Given the description of an element on the screen output the (x, y) to click on. 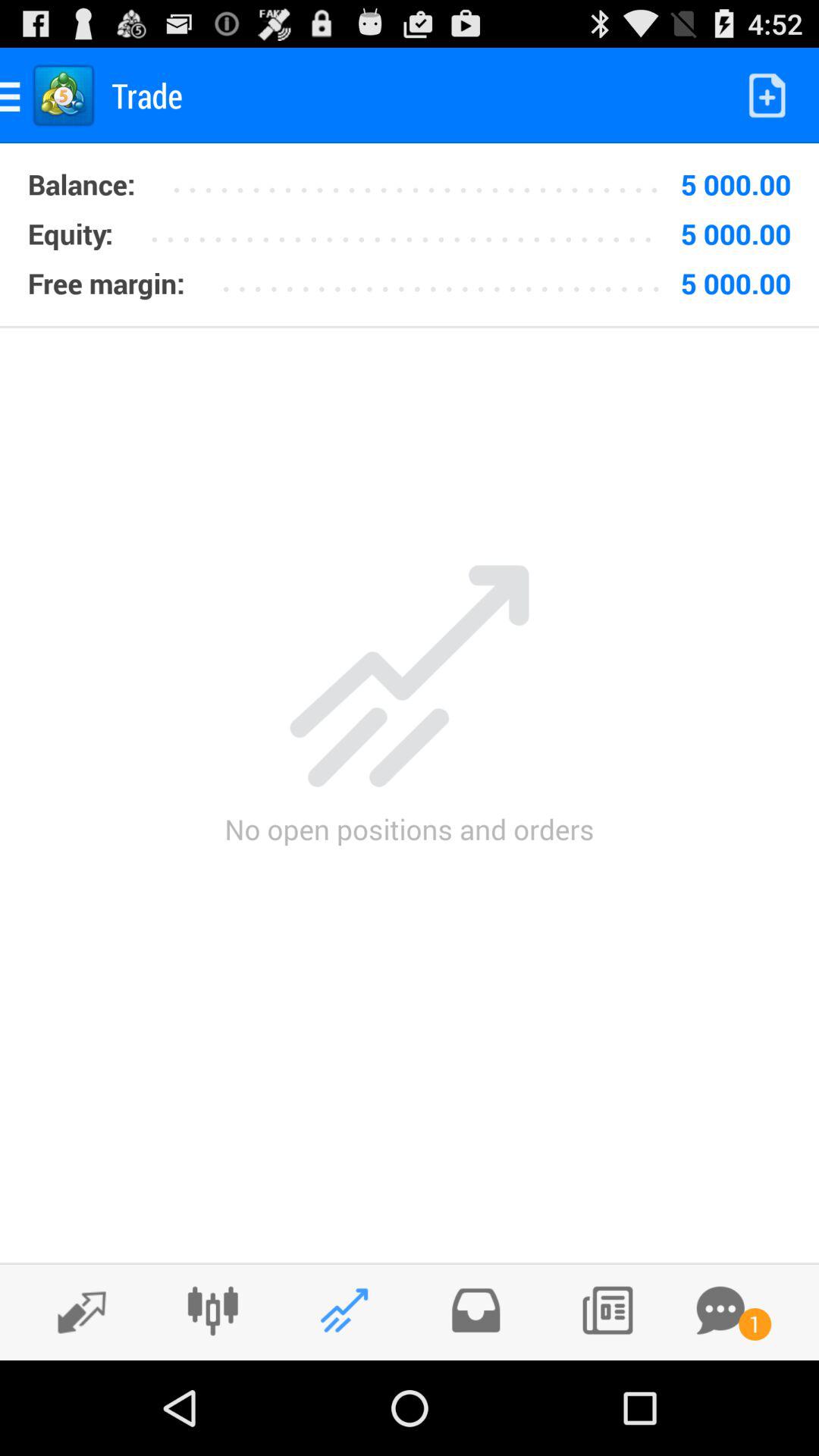
put the plug in (212, 1310)
